Given the description of an element on the screen output the (x, y) to click on. 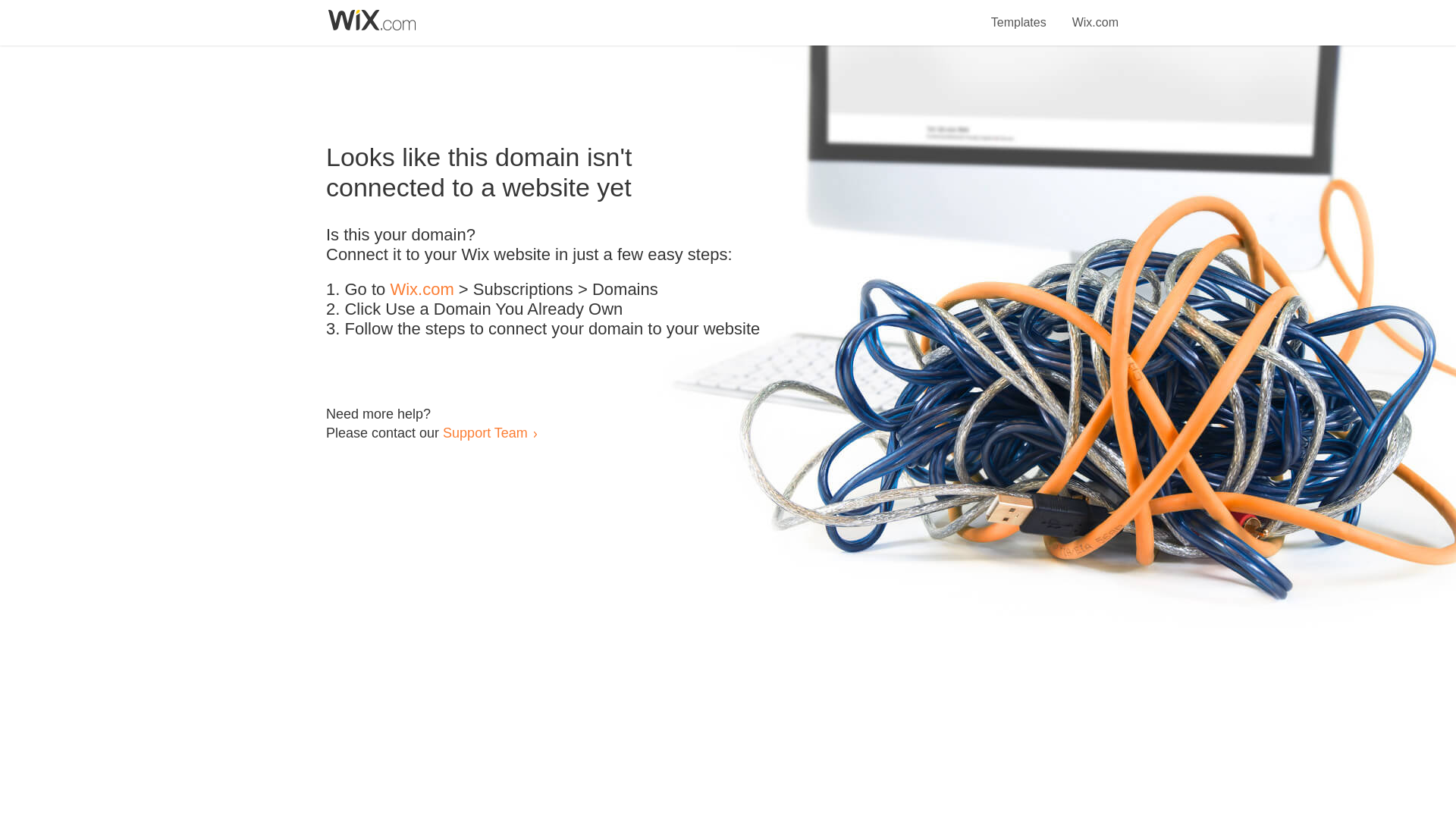
Support Team (484, 432)
Wix.com (1095, 14)
Wix.com (421, 289)
Templates (1018, 14)
